Given the description of an element on the screen output the (x, y) to click on. 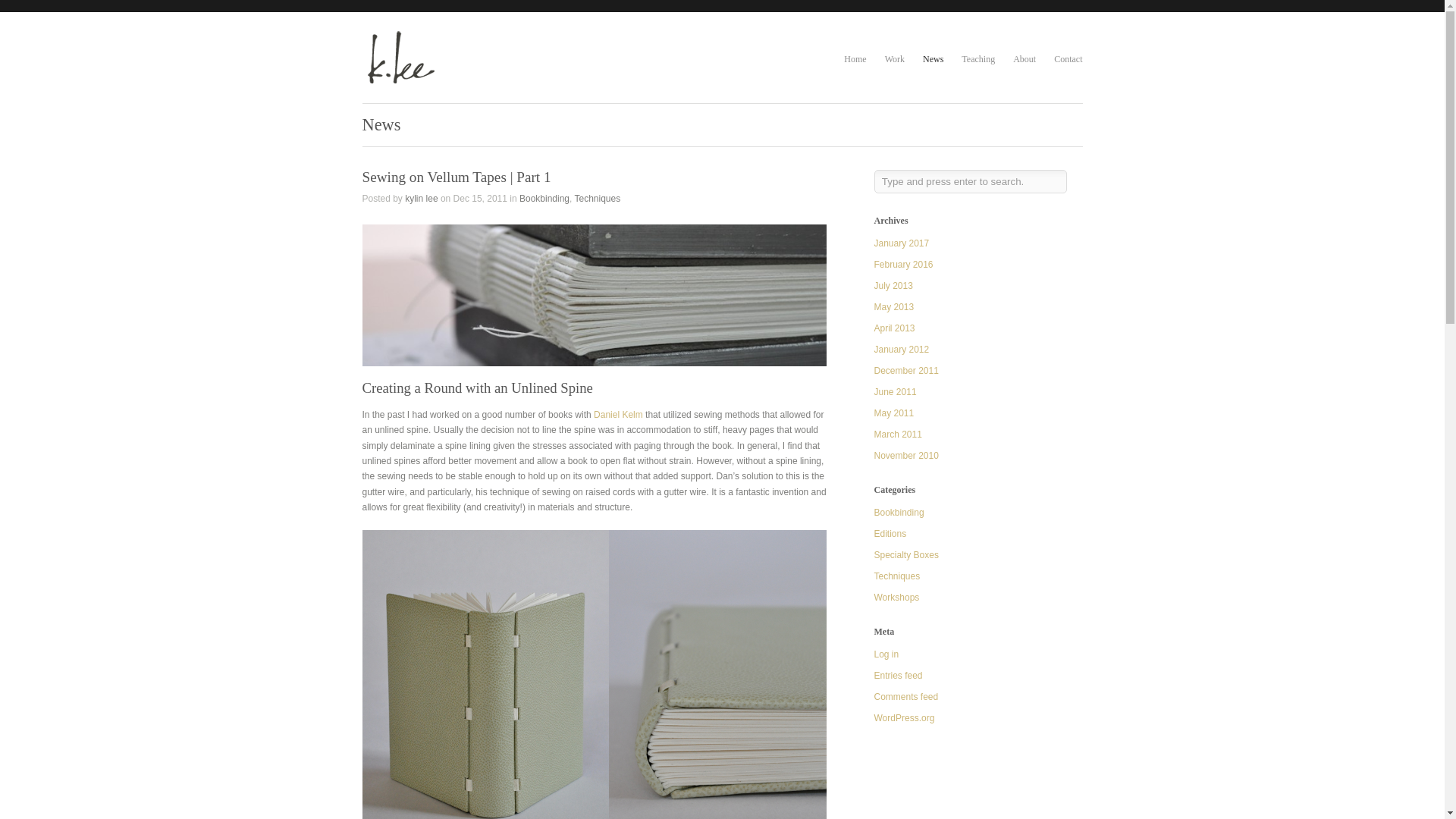
December 2011 (905, 370)
May 2013 (893, 307)
About (1024, 58)
WordPress.org (903, 717)
Teaching (977, 58)
May 2011 (893, 412)
Comments feed (905, 696)
Bookbinding (544, 198)
June 2011 (894, 391)
January 2012 (900, 348)
July 2013 (892, 285)
February 2016 (903, 264)
March 2011 (897, 434)
Editions (889, 533)
Log in (885, 654)
